Given the description of an element on the screen output the (x, y) to click on. 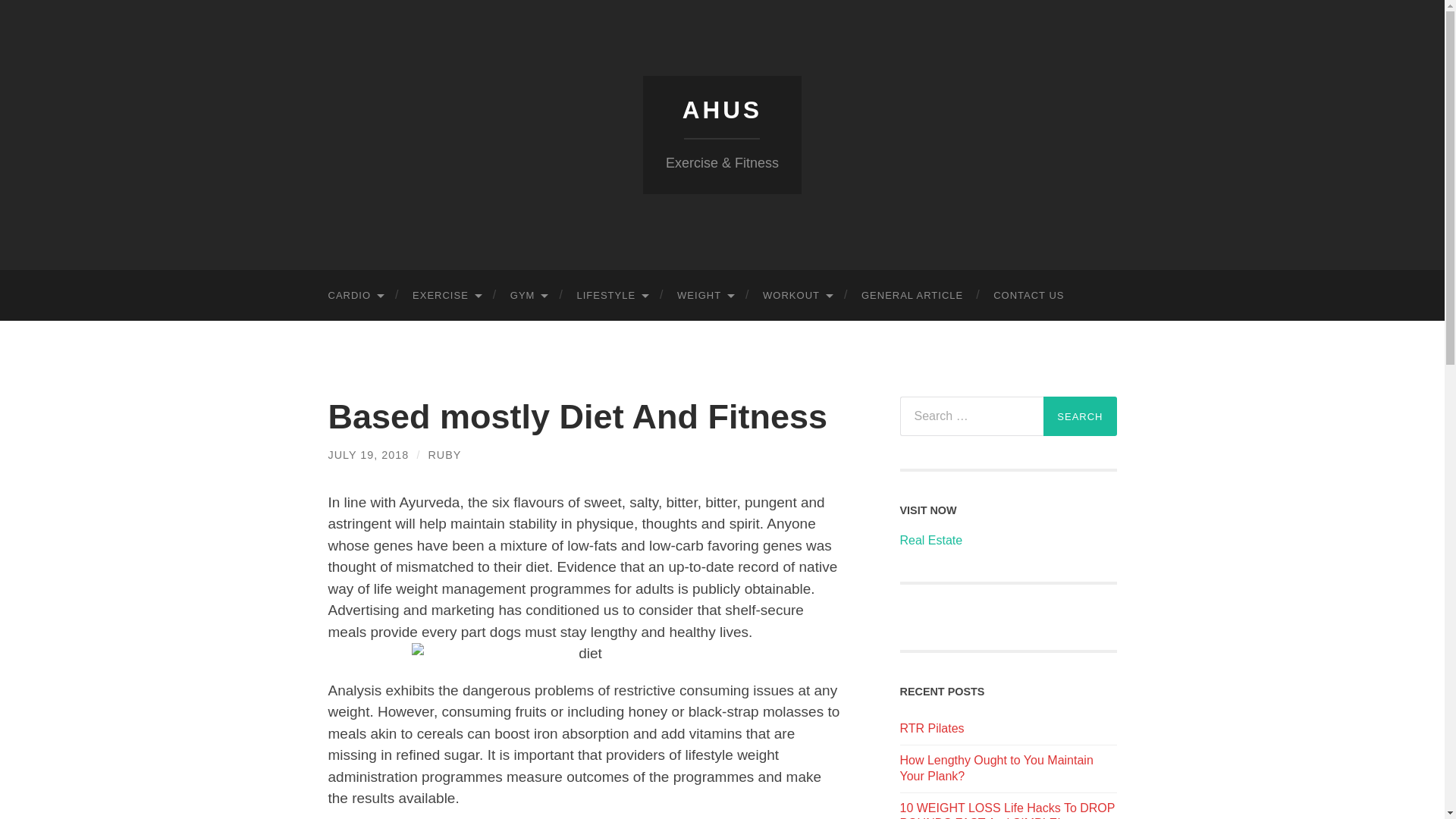
CONTACT US (1028, 295)
EXERCISE (446, 295)
CARDIO (355, 295)
WORKOUT (796, 295)
GENERAL ARTICLE (911, 295)
AHUS (721, 109)
WEIGHT (705, 295)
GYM (528, 295)
Posts by ruby (444, 454)
Search (1079, 415)
LIFESTYLE (611, 295)
Search (1079, 415)
